Given the description of an element on the screen output the (x, y) to click on. 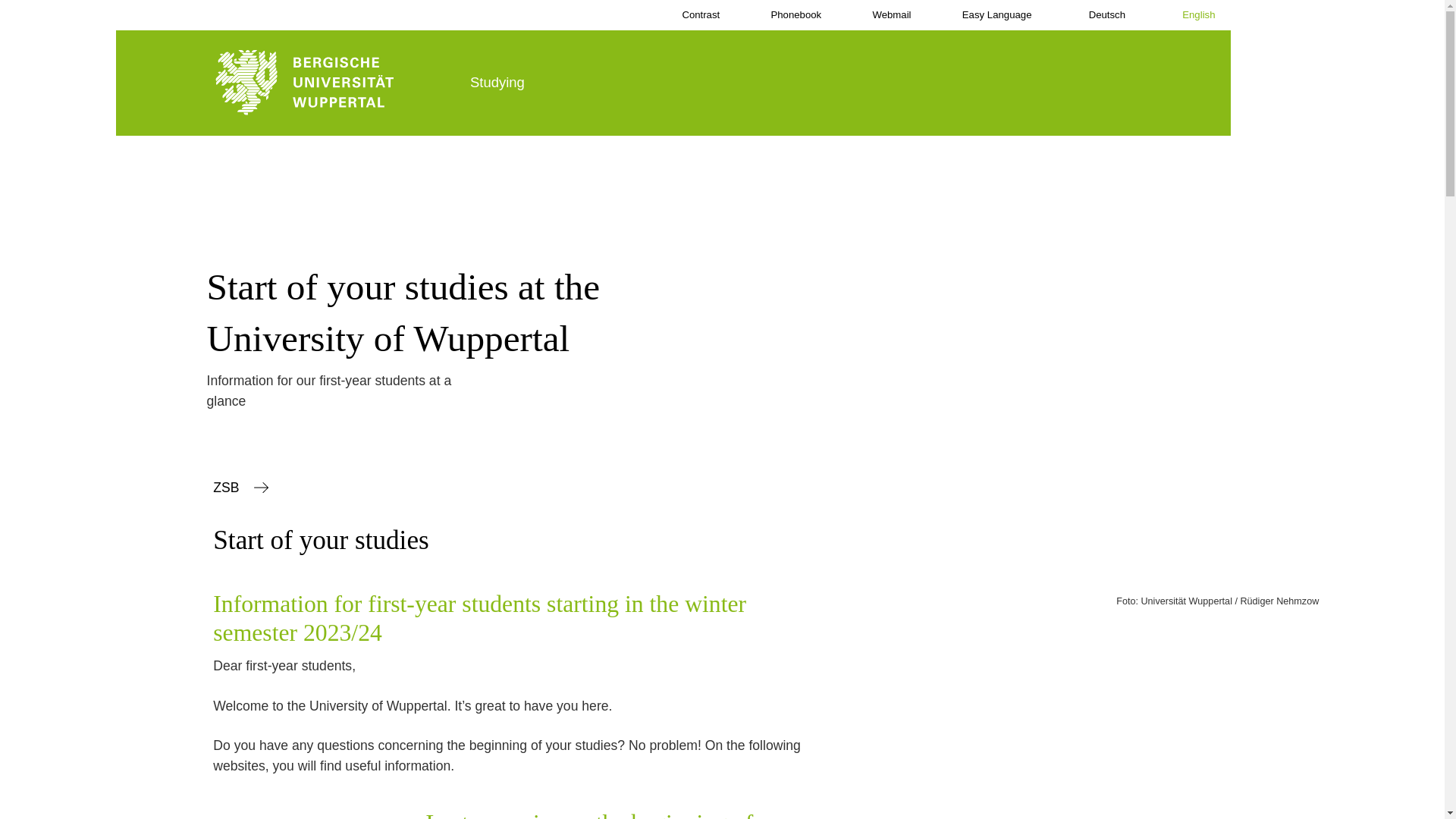
go to front page (334, 82)
Phonebook (785, 15)
ZSB (239, 487)
Webmail (881, 15)
Contrast (690, 15)
Deutsch (1093, 15)
open search (1181, 84)
ZSB (239, 487)
Deutsch (1093, 15)
Studying (502, 83)
